Given the description of an element on the screen output the (x, y) to click on. 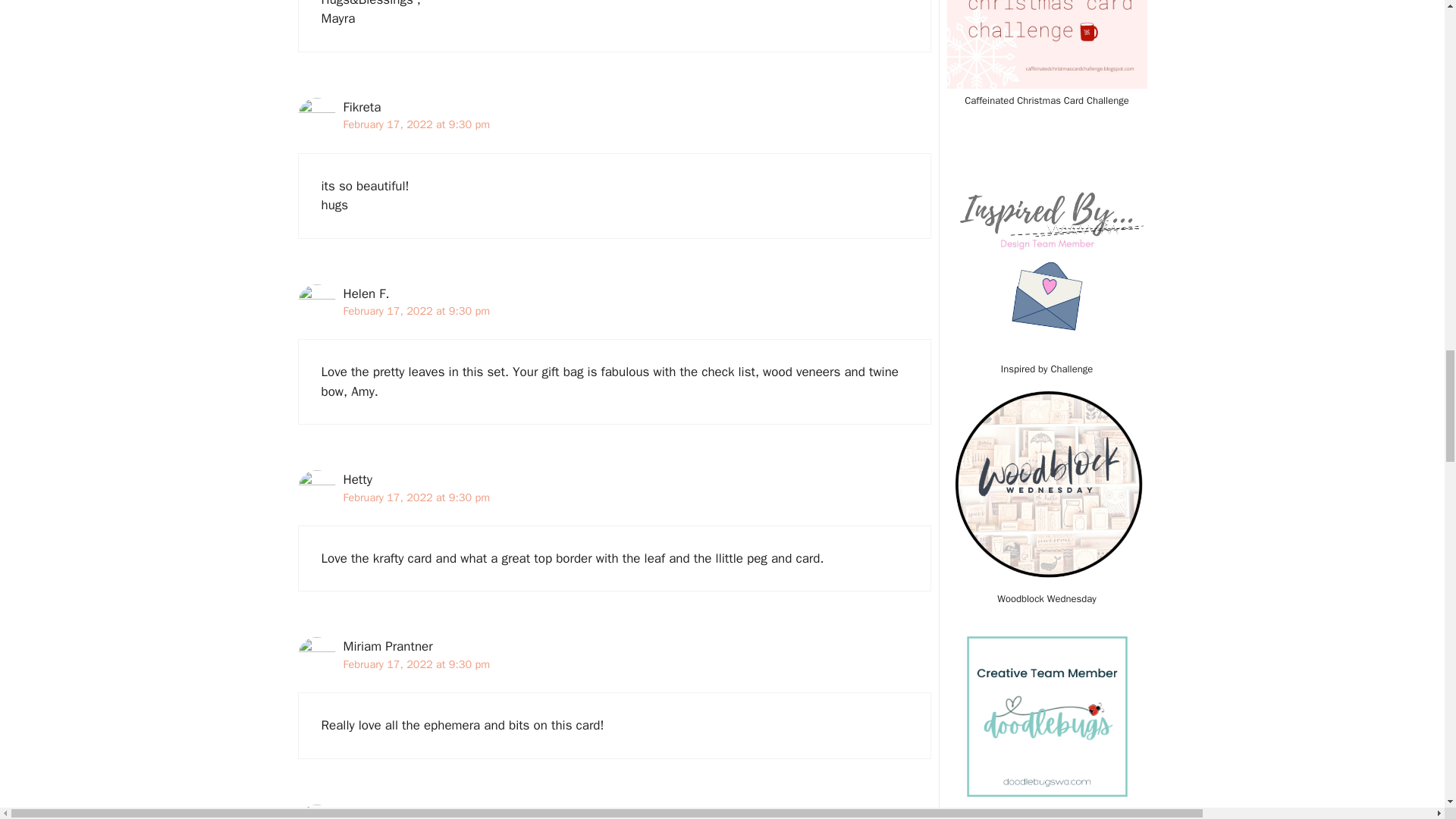
February 17, 2022 at 9:30 pm (415, 310)
February 17, 2022 at 9:30 pm (415, 497)
February 17, 2022 at 9:30 pm (415, 663)
February 17, 2022 at 9:30 pm (415, 124)
